Given the description of an element on the screen output the (x, y) to click on. 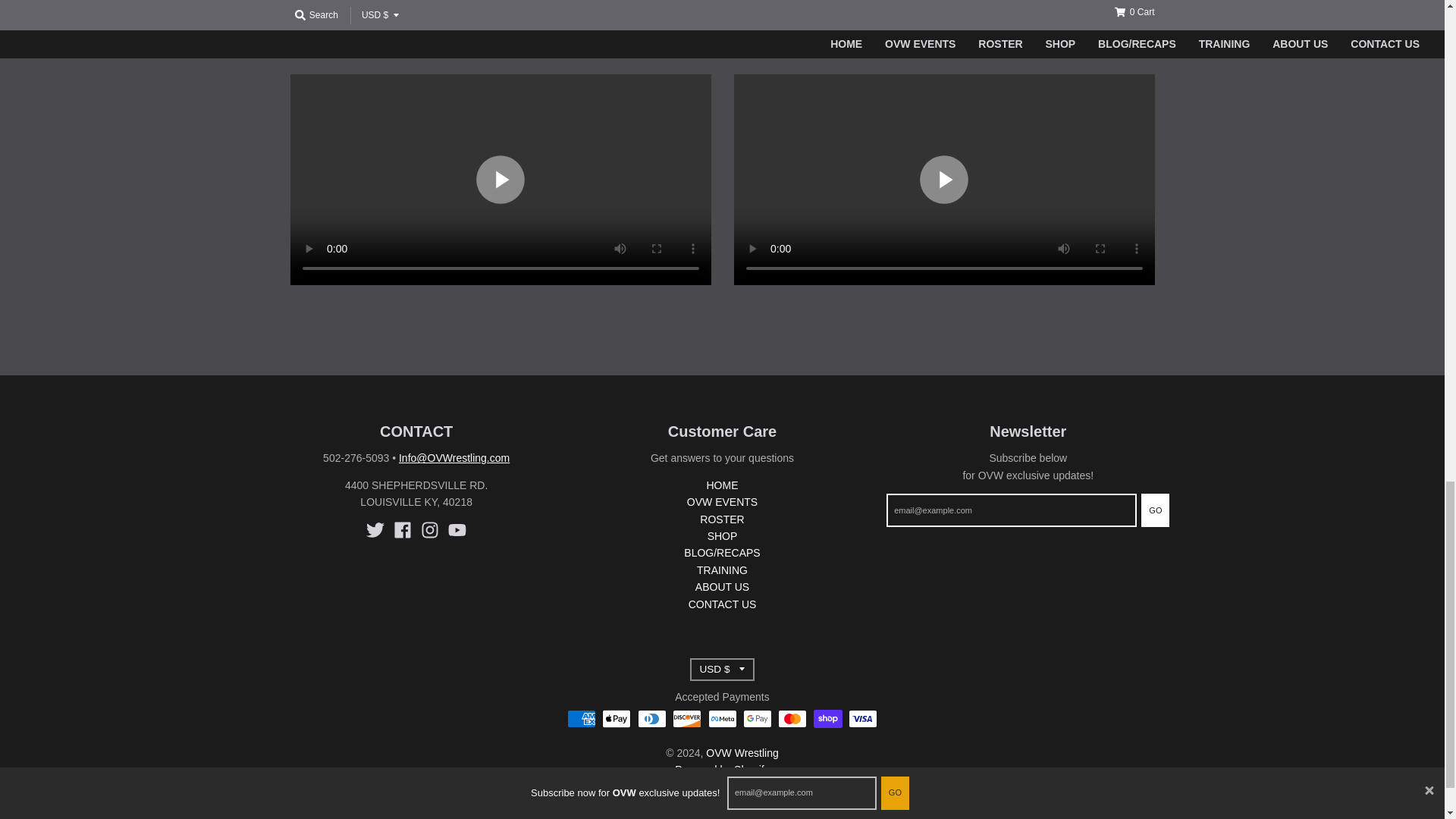
Twitter - OVW Wrestling (375, 529)
Facebook - OVW Wrestling (402, 529)
YouTube - OVW Wrestling (456, 529)
Instagram - OVW Wrestling (429, 529)
